Given the description of an element on the screen output the (x, y) to click on. 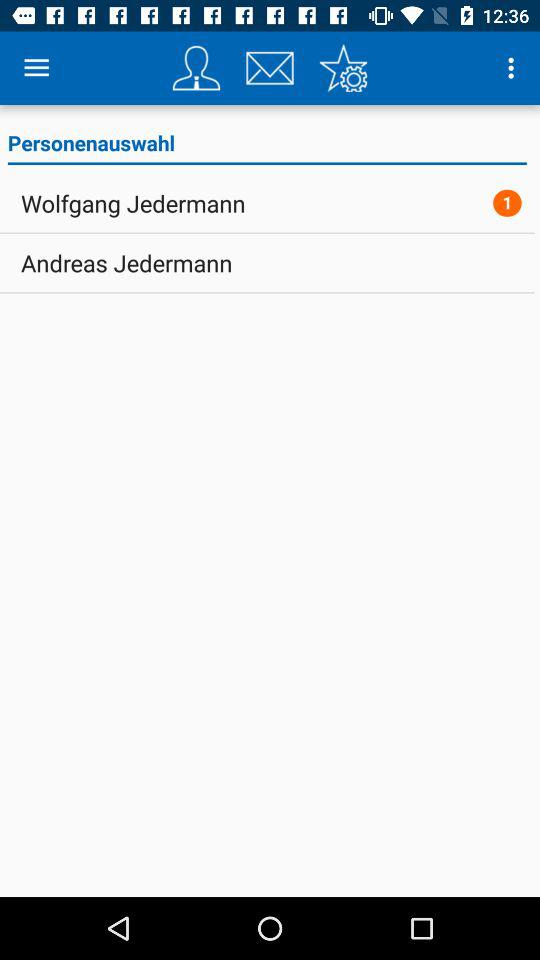
choose icon above the personenauswahl (513, 67)
